Given the description of an element on the screen output the (x, y) to click on. 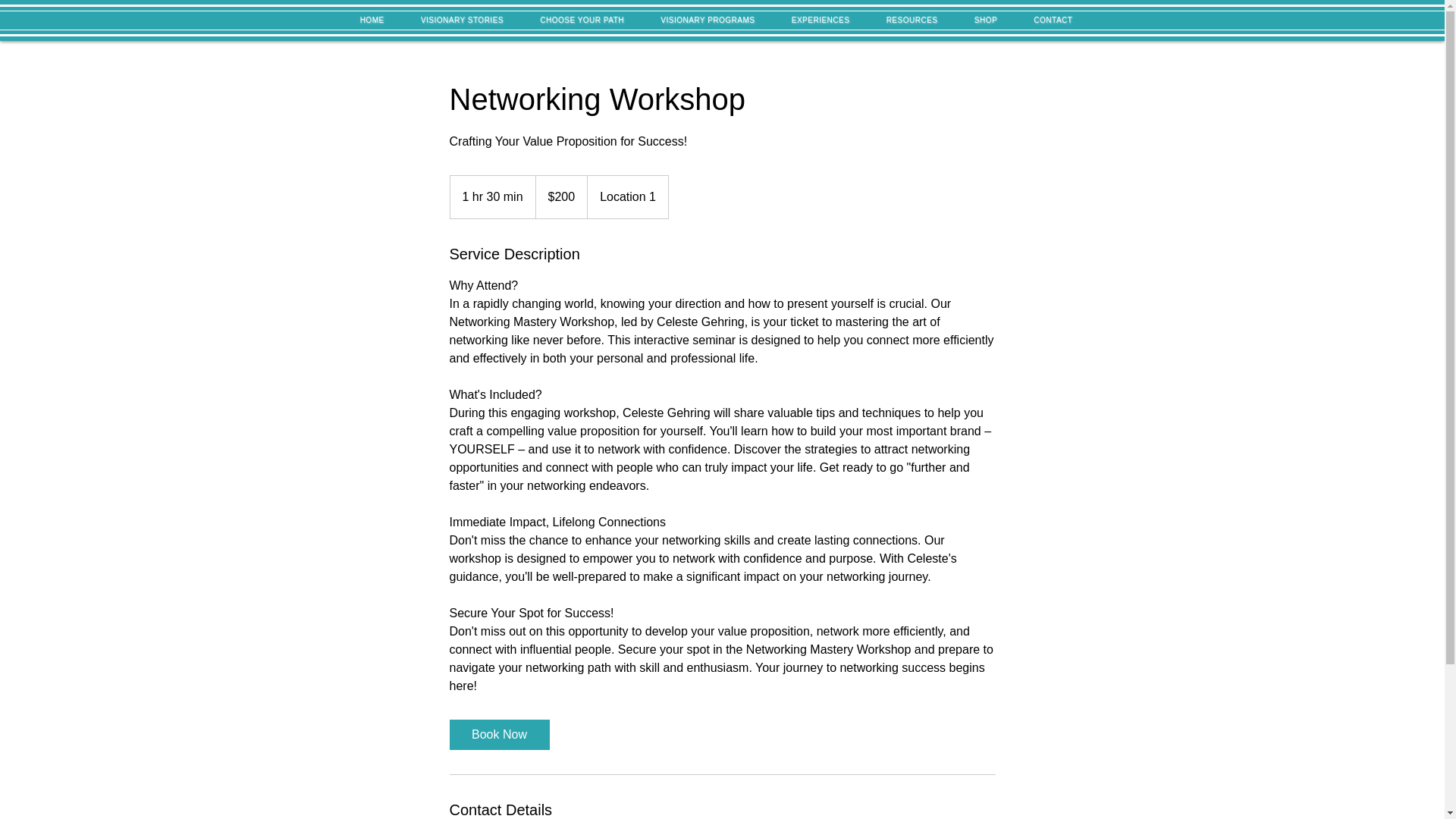
Book Now (498, 734)
HOME (370, 19)
SHOP (986, 19)
CHOOSE YOUR PATH (581, 19)
